Given the description of an element on the screen output the (x, y) to click on. 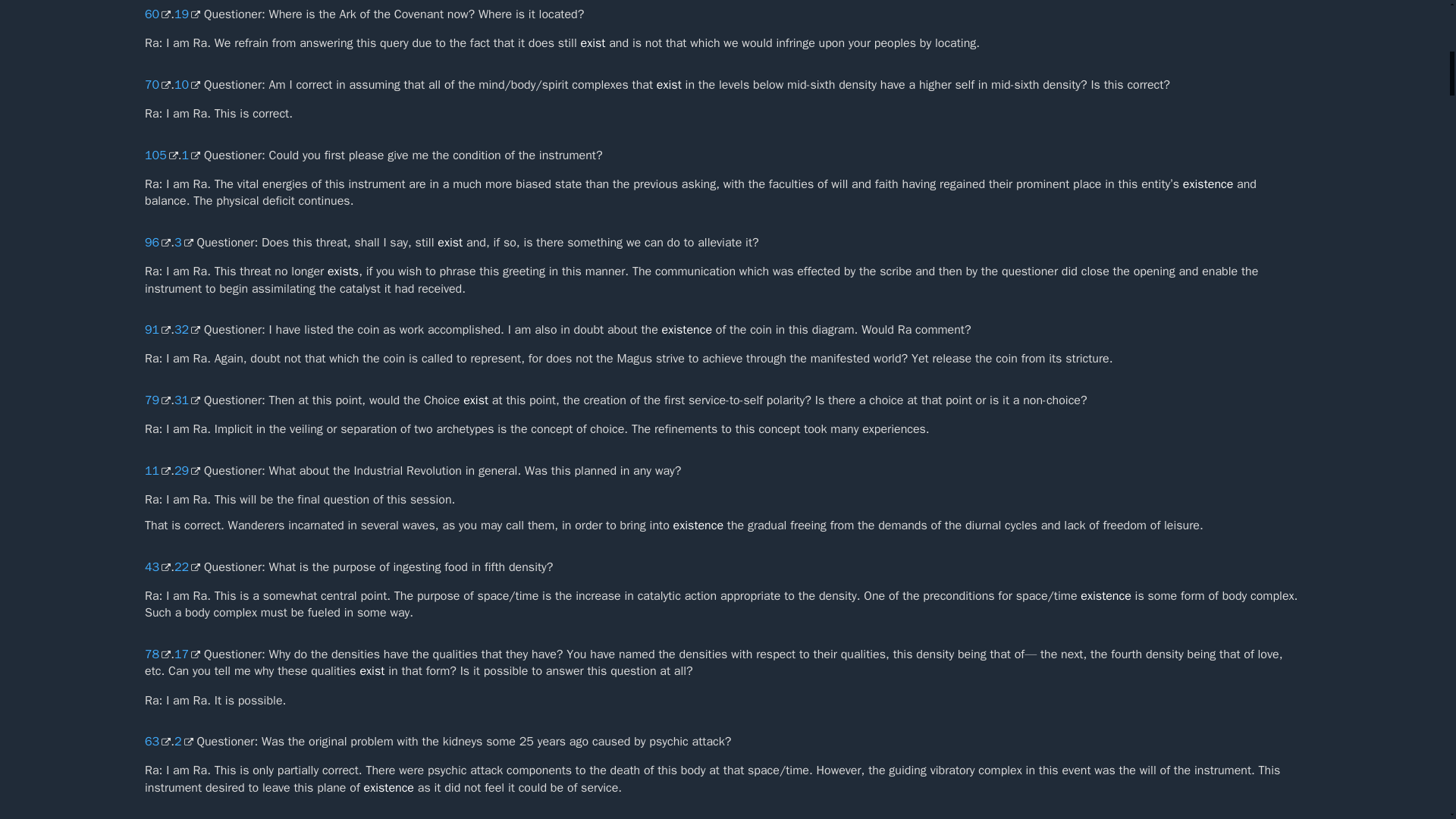
105 (160, 155)
10 (187, 84)
96 (157, 242)
60 (157, 14)
70 (157, 84)
1 (191, 155)
19 (187, 14)
